Given the description of an element on the screen output the (x, y) to click on. 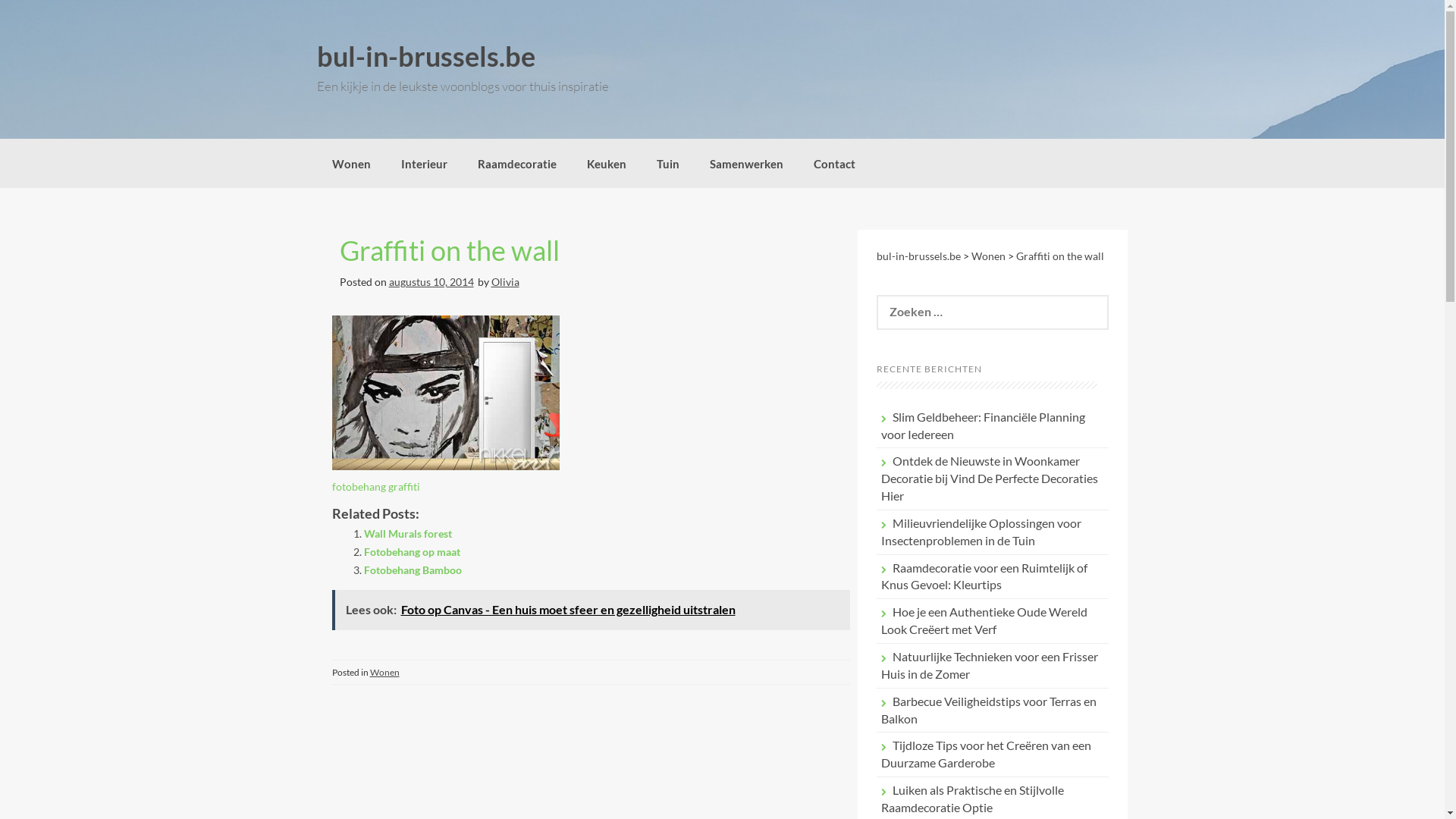
Contact Element type: text (833, 162)
Keuken Element type: text (606, 162)
Raamdecoratie Element type: text (516, 162)
Fotobehang Bamboo Element type: text (412, 569)
Zoeken Element type: text (24, 9)
Graffiti on the wall Element type: text (449, 249)
Olivia Element type: text (505, 281)
augustus 10, 2014 Element type: text (430, 281)
Wonen Element type: text (350, 162)
bul-in-brussels.be Element type: text (425, 55)
Samenwerken Element type: text (746, 162)
Wonen Element type: text (988, 255)
fotobehang graffiti Element type: text (376, 486)
Wonen Element type: text (384, 671)
Graffiti on the wall Element type: text (1060, 255)
Fotobehang op maat Element type: text (412, 551)
Raamdecoratie voor een Ruimtelijk of Knus Gevoel: Kleurtips Element type: text (984, 576)
Luiken als Praktische en Stijlvolle Raamdecoratie Optie Element type: text (972, 798)
bul-in-brussels.be Element type: text (918, 255)
Interieur Element type: text (423, 162)
Wall Murals forest Element type: text (407, 533)
Barbecue Veiligheidstips voor Terras en Balkon Element type: text (988, 709)
Natuurlijke Technieken voor een Frisser Huis in de Zomer Element type: text (989, 664)
Tuin Element type: text (667, 162)
graffiti Element type: hover (445, 392)
